Given the description of an element on the screen output the (x, y) to click on. 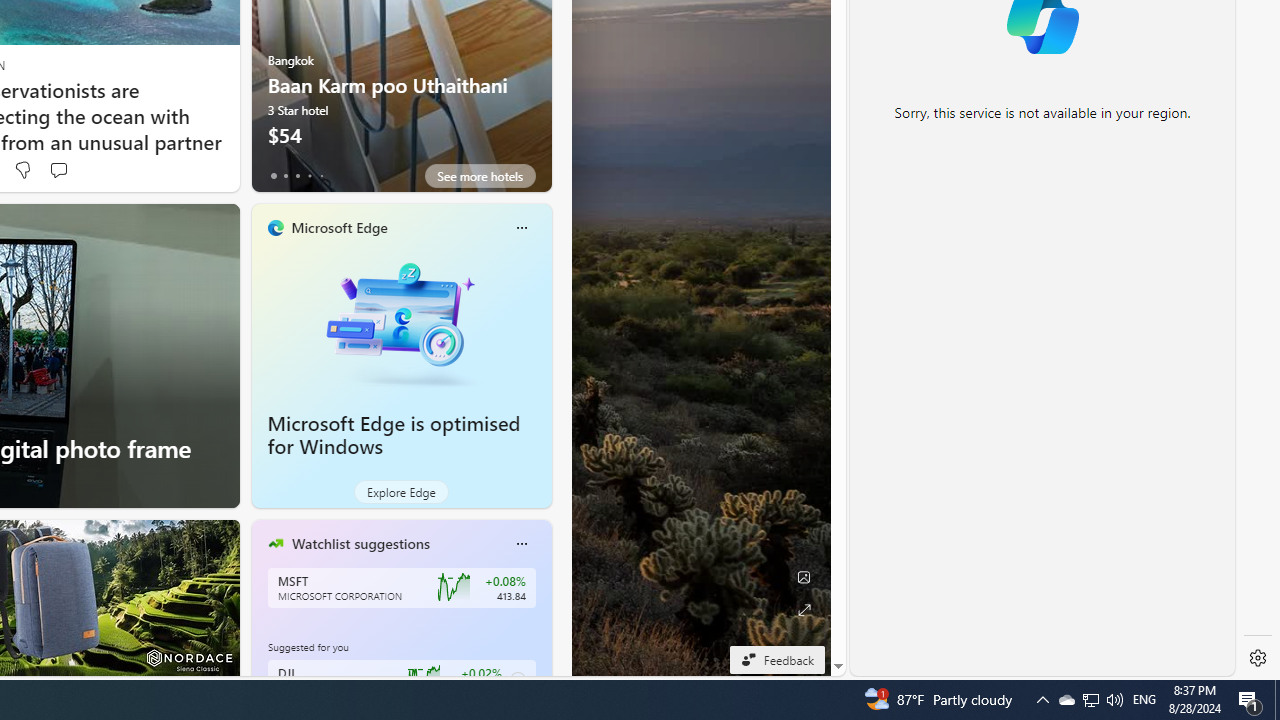
tab-3 (309, 175)
Dislike (21, 170)
Watchlist suggestions (360, 543)
Microsoft Edge is optimised for Windows (393, 435)
Class: follow-button  m (517, 679)
tab-1 (285, 175)
Microsoft Edge is optimised for Windows (401, 321)
